Given the description of an element on the screen output the (x, y) to click on. 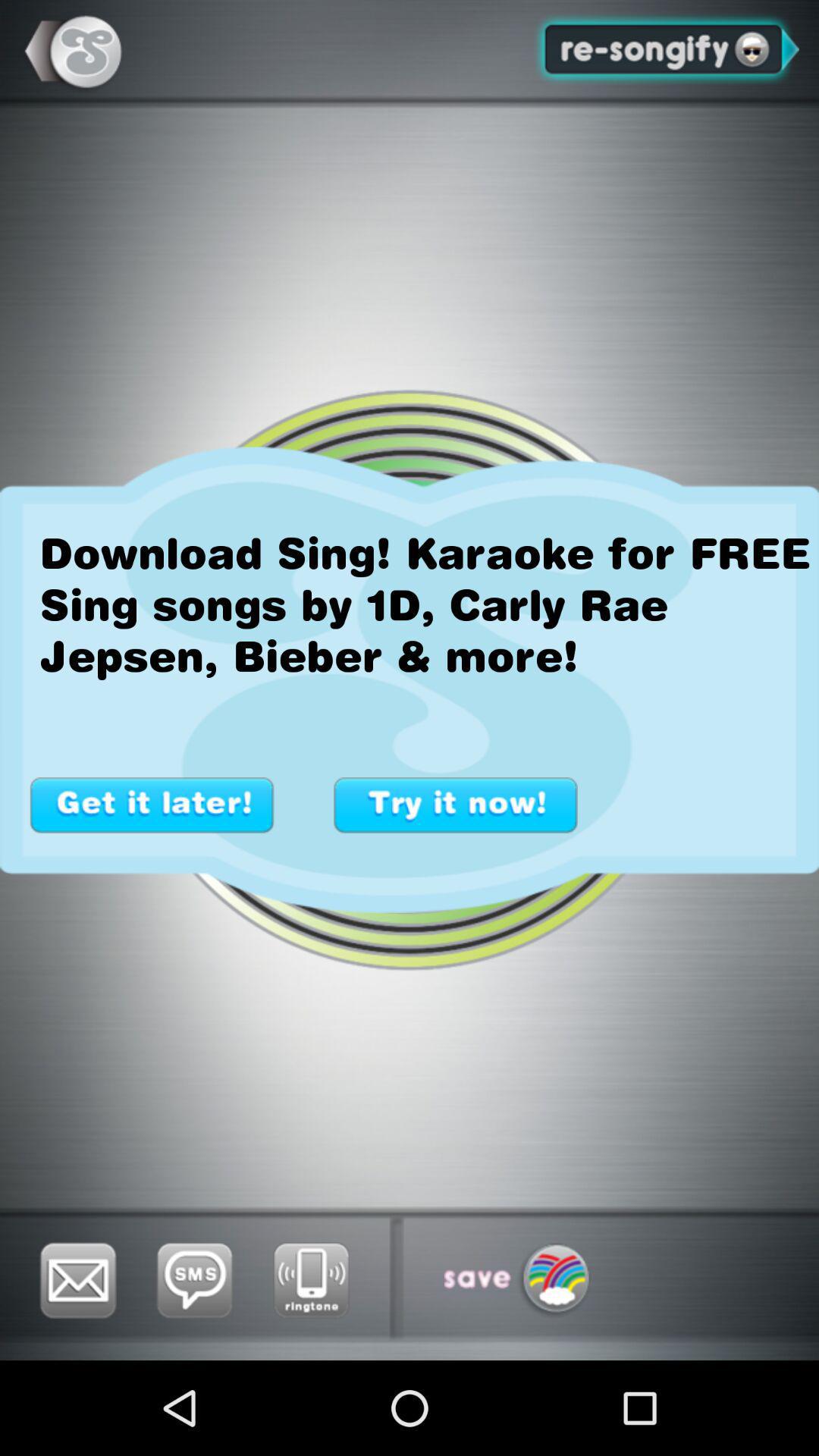
try it now option (455, 805)
